Given the description of an element on the screen output the (x, y) to click on. 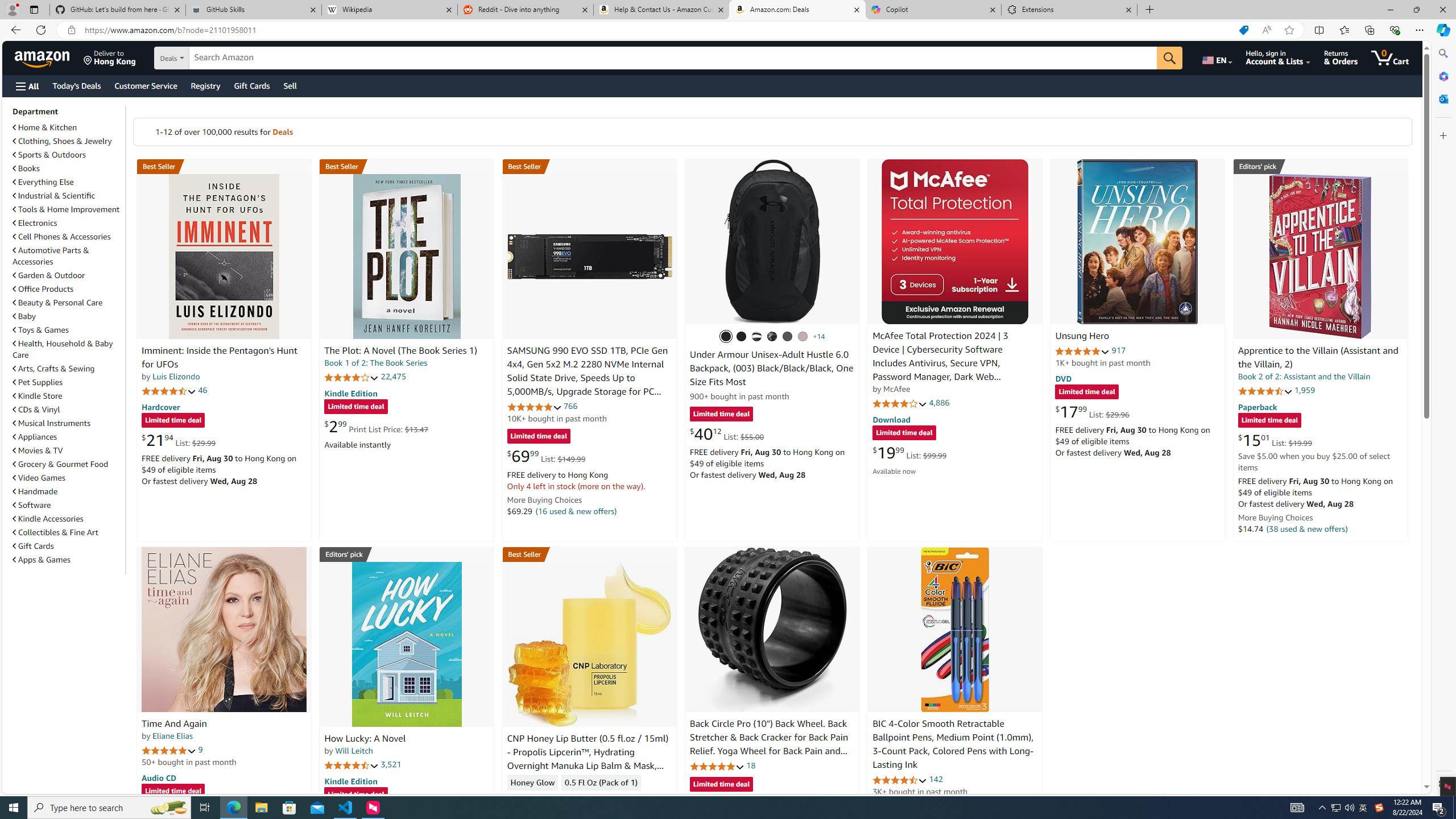
(38 used & new offers) (1307, 528)
Everything Else (43, 181)
4,886 (938, 402)
Unsung Hero (1082, 336)
Extensions (1068, 9)
Gift Cards (67, 546)
Customer Service (145, 85)
Home & Kitchen (67, 127)
Imminent: Inside the Pentagon's Hunt for UFOs (223, 256)
Kindle Edition (350, 780)
